Given the description of an element on the screen output the (x, y) to click on. 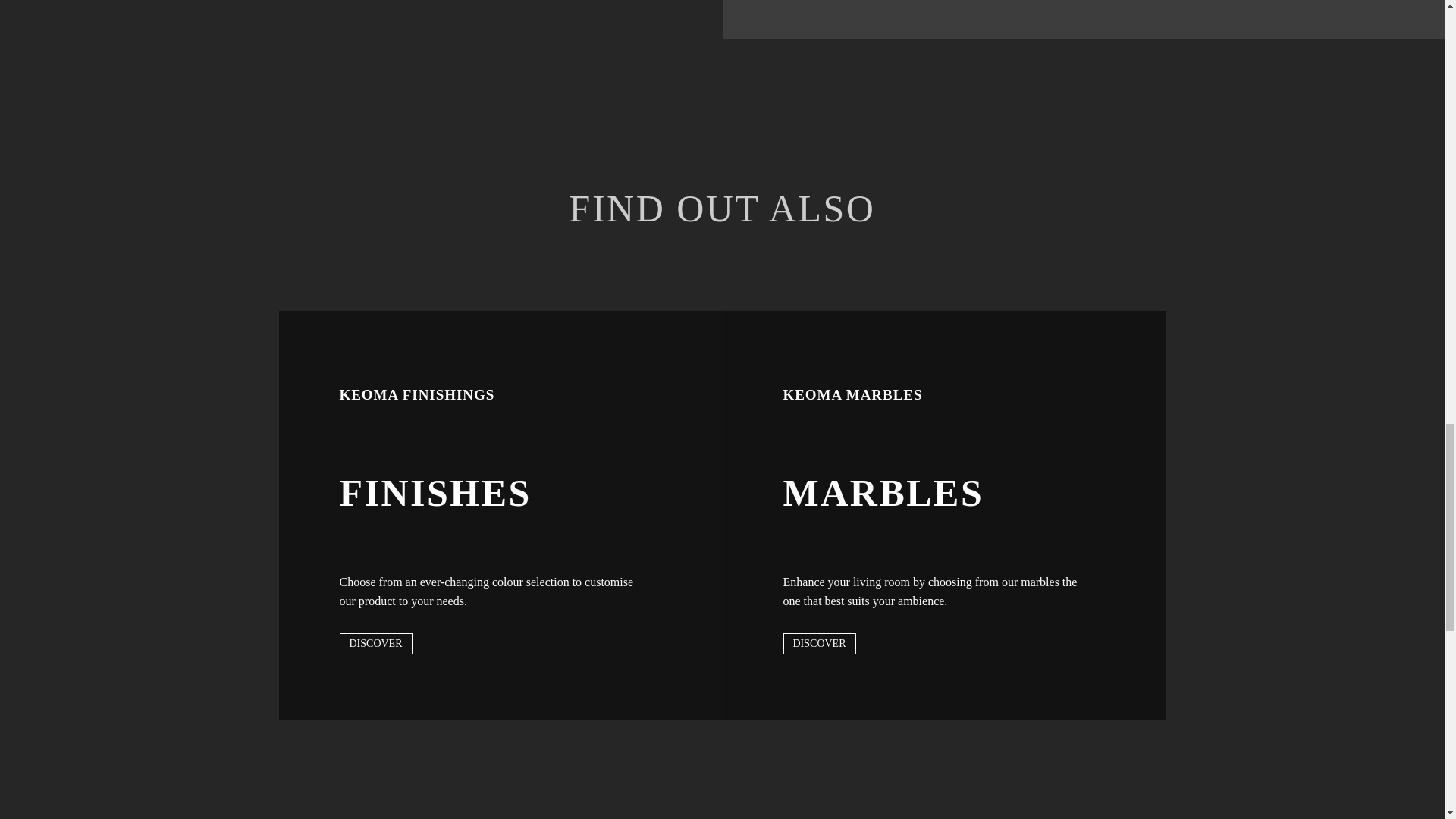
DISCOVER (375, 643)
DISCOVER (819, 643)
